Given the description of an element on the screen output the (x, y) to click on. 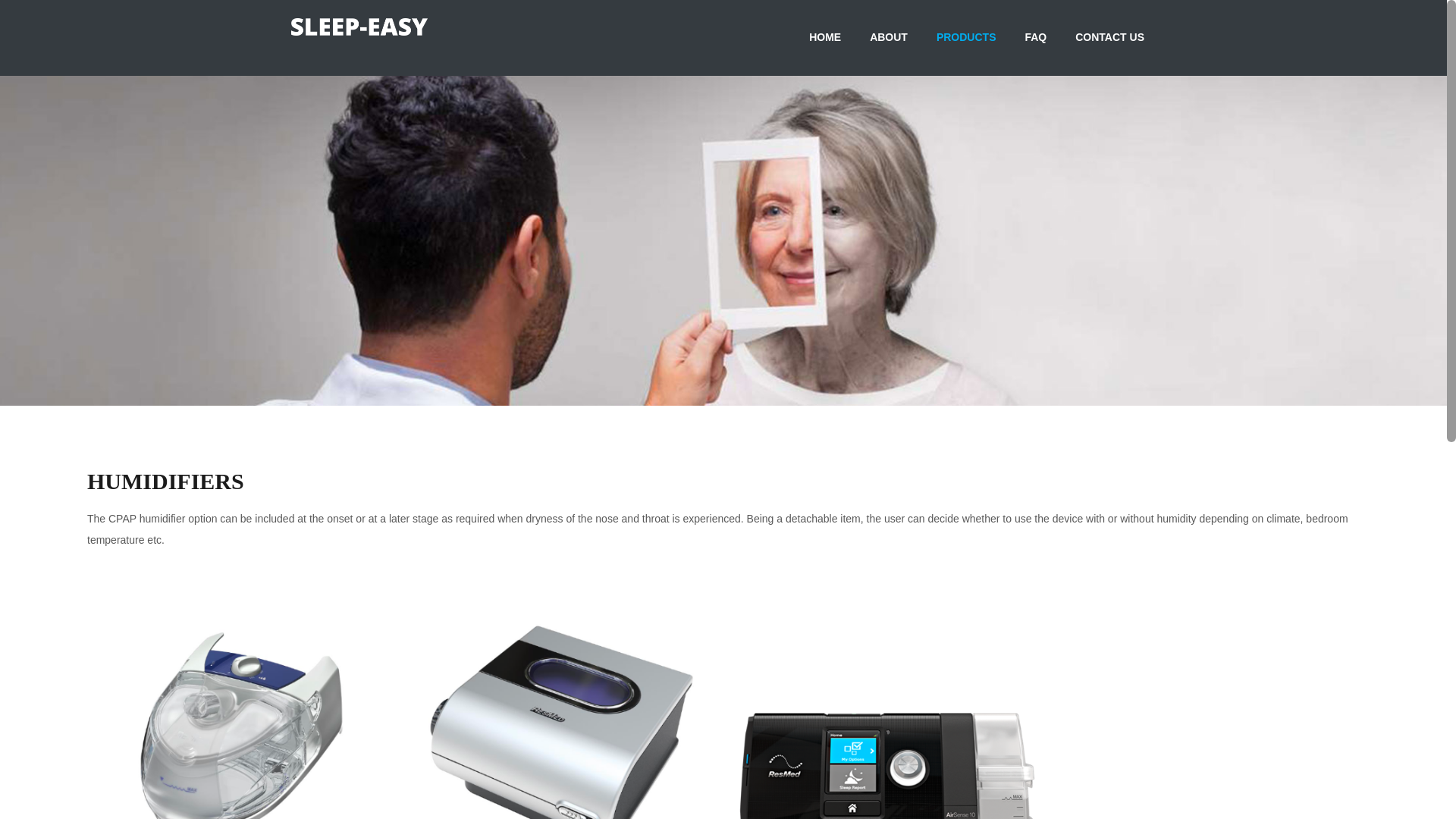
PRODUCTS (965, 38)
CONTACT US (1110, 38)
Sleep Easy (359, 27)
